Given the description of an element on the screen output the (x, y) to click on. 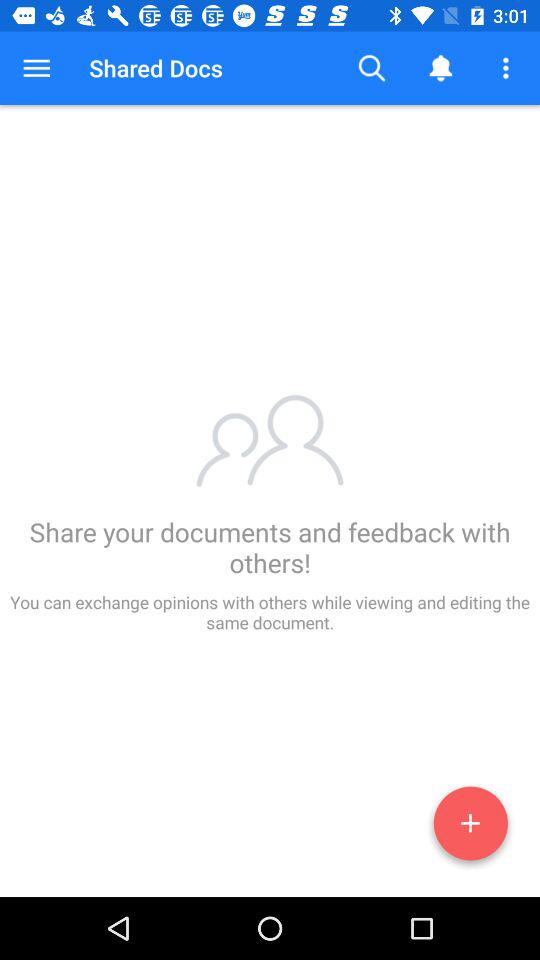
turn on the icon to the right of the shared docs item (371, 67)
